Given the description of an element on the screen output the (x, y) to click on. 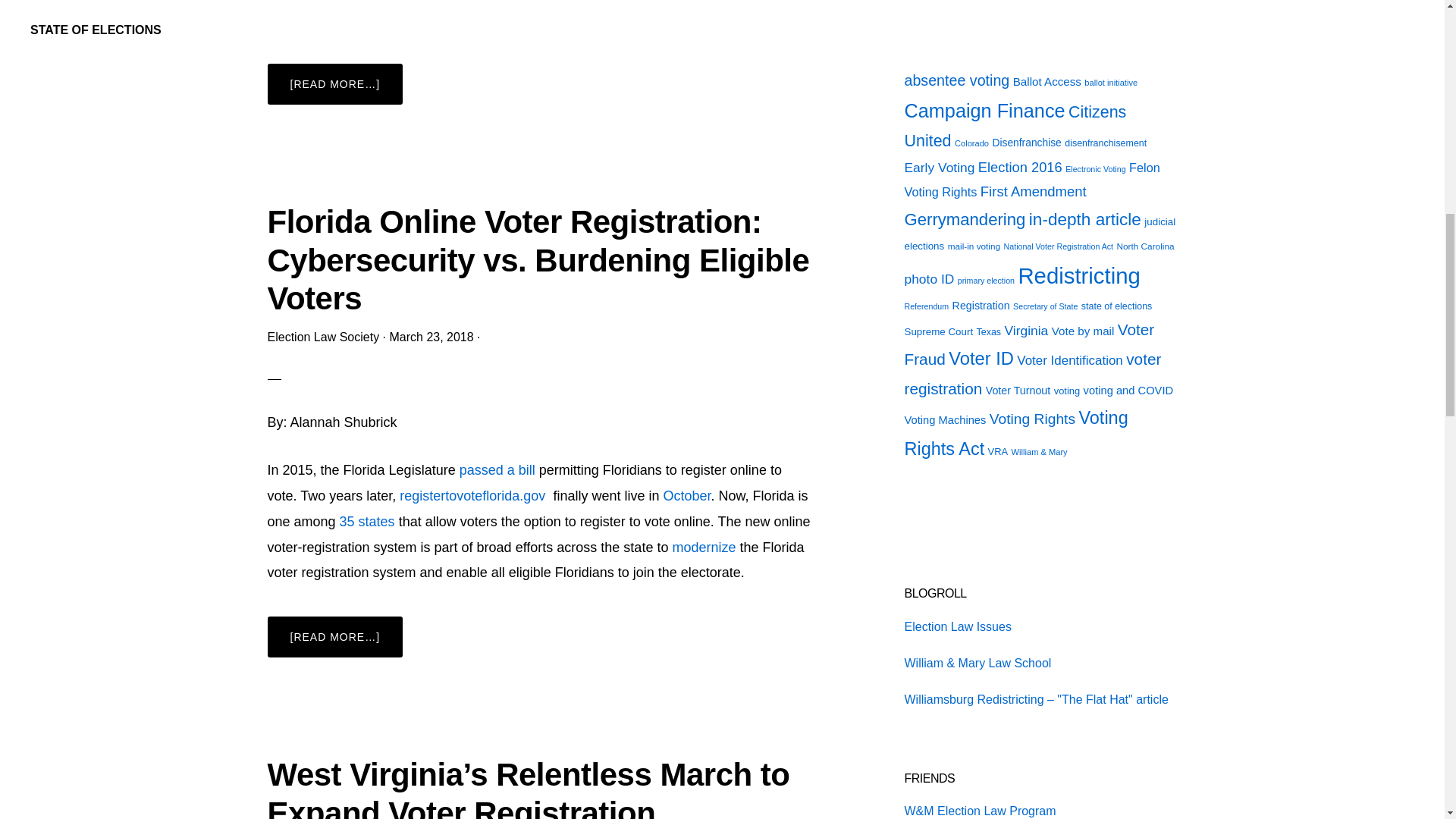
registertovoteflorida.gov (473, 495)
Election Law Society (322, 336)
October (686, 495)
2016 Election (940, 53)
35 states (366, 521)
modernize (703, 547)
passed a bill (497, 469)
2020 Election (1031, 52)
